Given the description of an element on the screen output the (x, y) to click on. 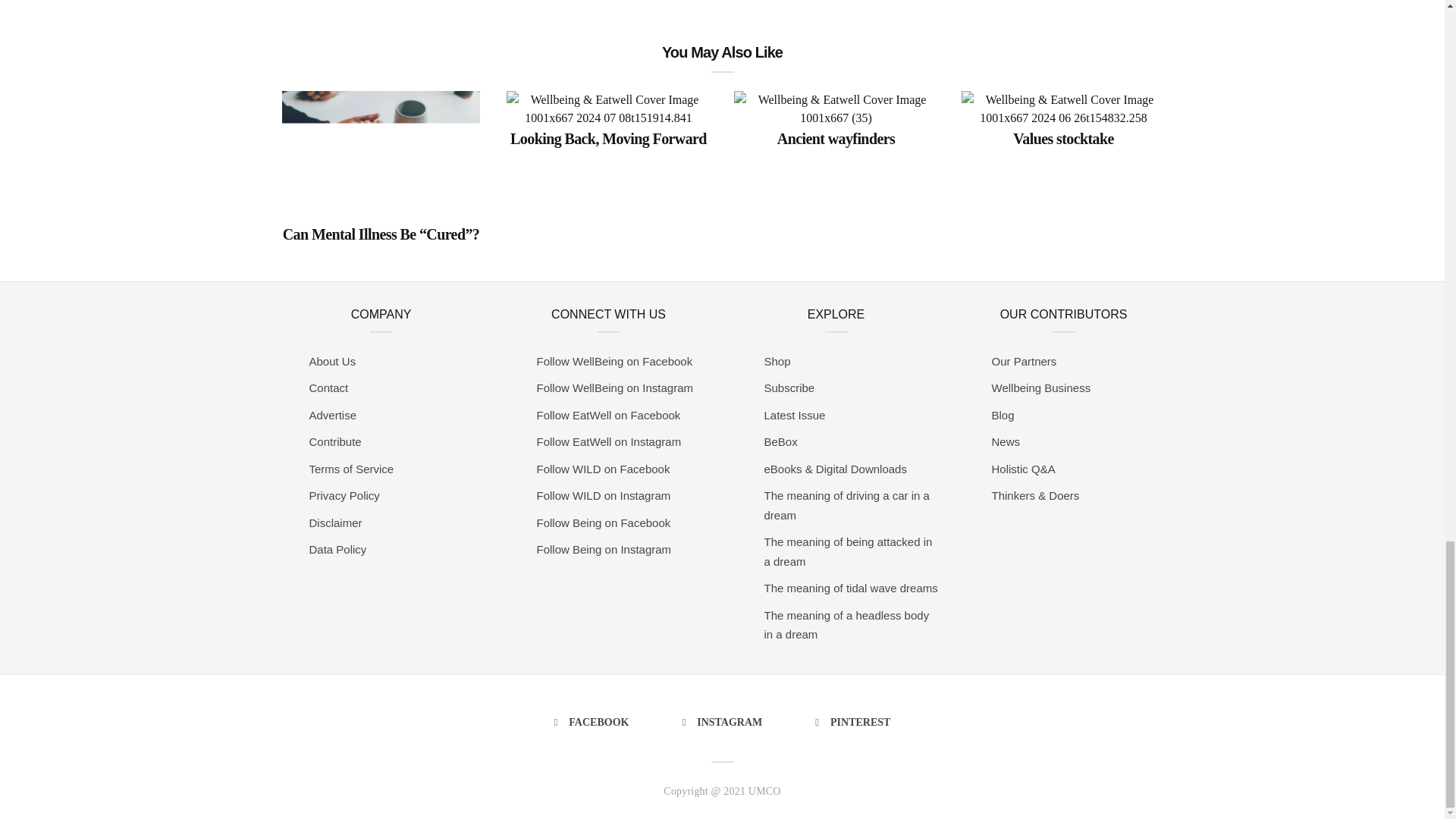
Looking Back, Moving Forward (608, 136)
Contact (395, 388)
Values stocktake (1063, 136)
Ancient wayfinders (836, 136)
About Us (395, 361)
Advertise (395, 415)
